Given the description of an element on the screen output the (x, y) to click on. 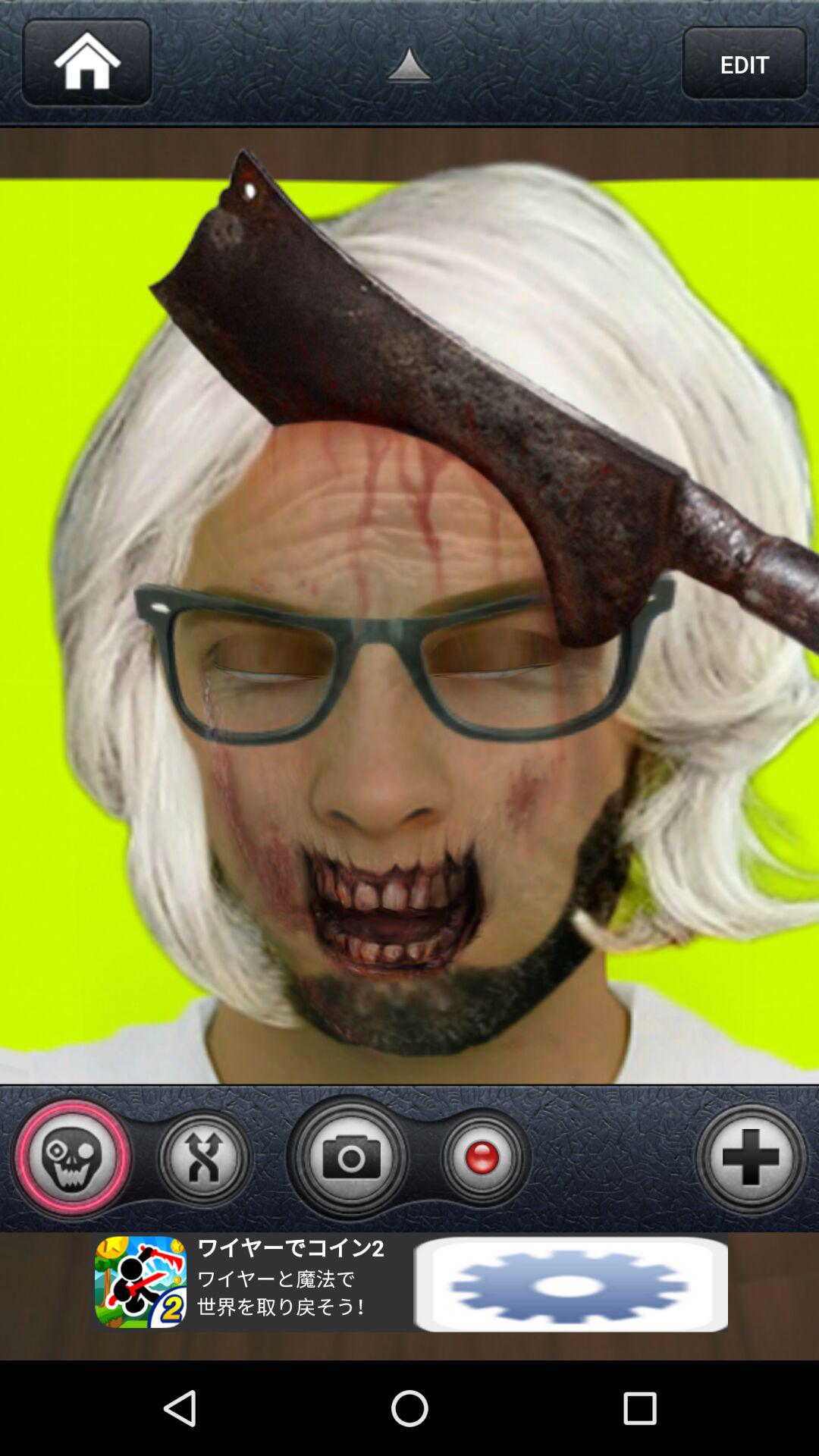
take photo (351, 1157)
